Given the description of an element on the screen output the (x, y) to click on. 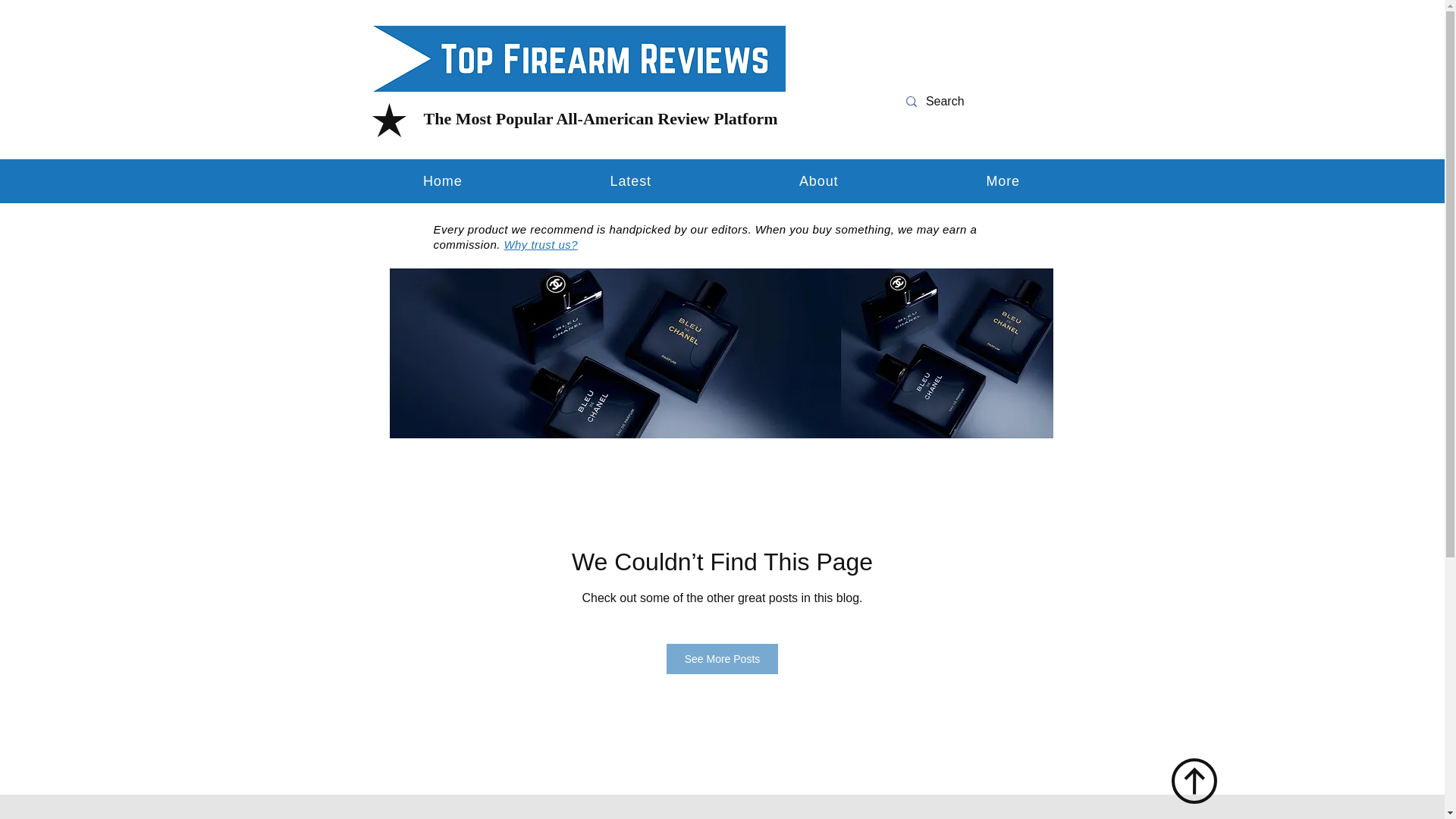
Why trust us? (540, 244)
Latest (630, 180)
See More Posts (721, 180)
About (722, 658)
Home (818, 180)
